Given the description of an element on the screen output the (x, y) to click on. 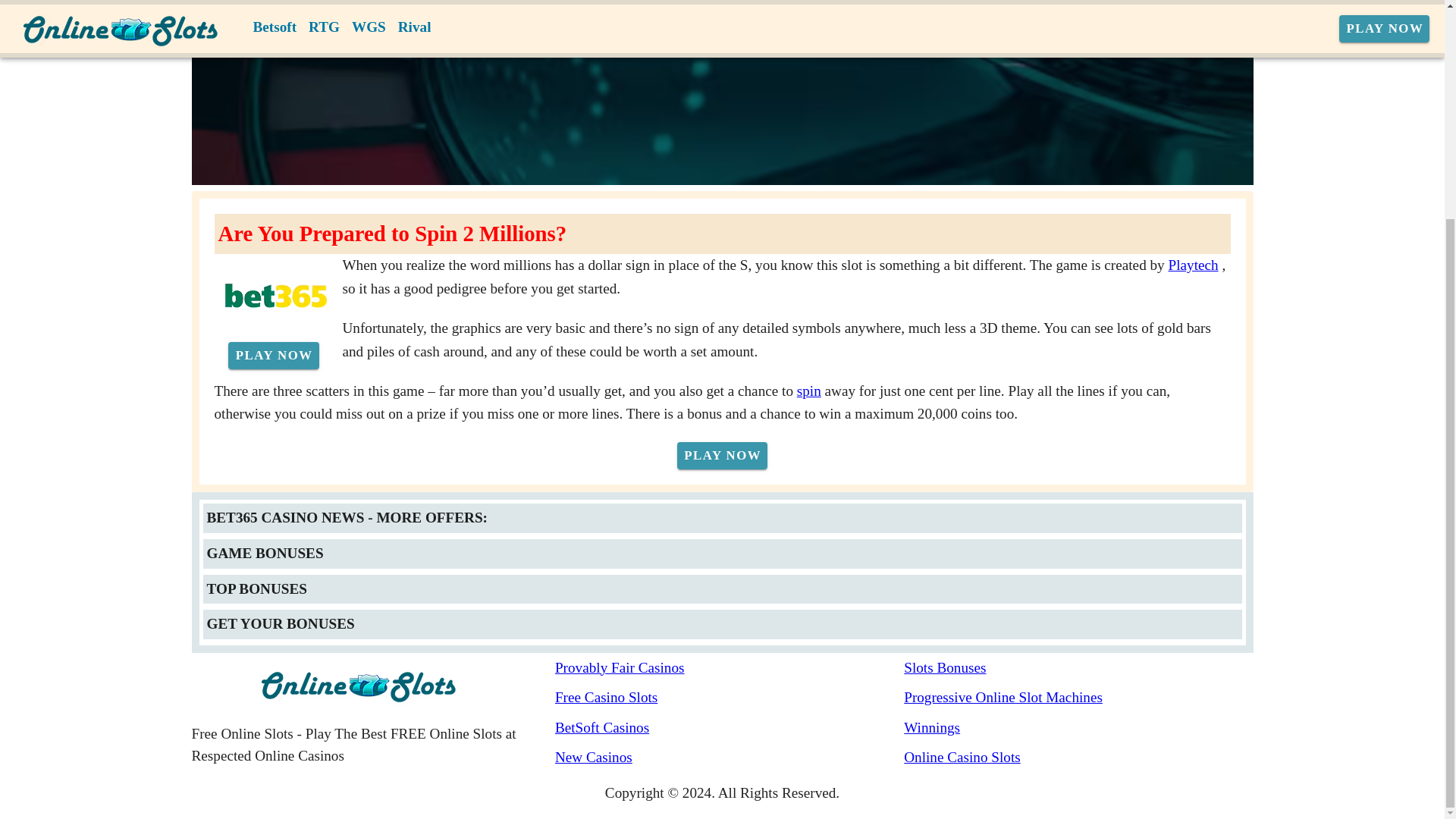
BetSoft Casinos (729, 728)
New Casinos (729, 757)
Online Casino Slots (1078, 757)
PLAY NOW (722, 455)
Slots Bonuses (1078, 668)
PLAY NOW (273, 355)
Playtech (1193, 264)
Progressive Online Slot Machines (1078, 698)
Provably Fair Casinos (729, 668)
Winnings (1078, 728)
spin (808, 390)
Free Casino Slots (729, 698)
